Given the description of an element on the screen output the (x, y) to click on. 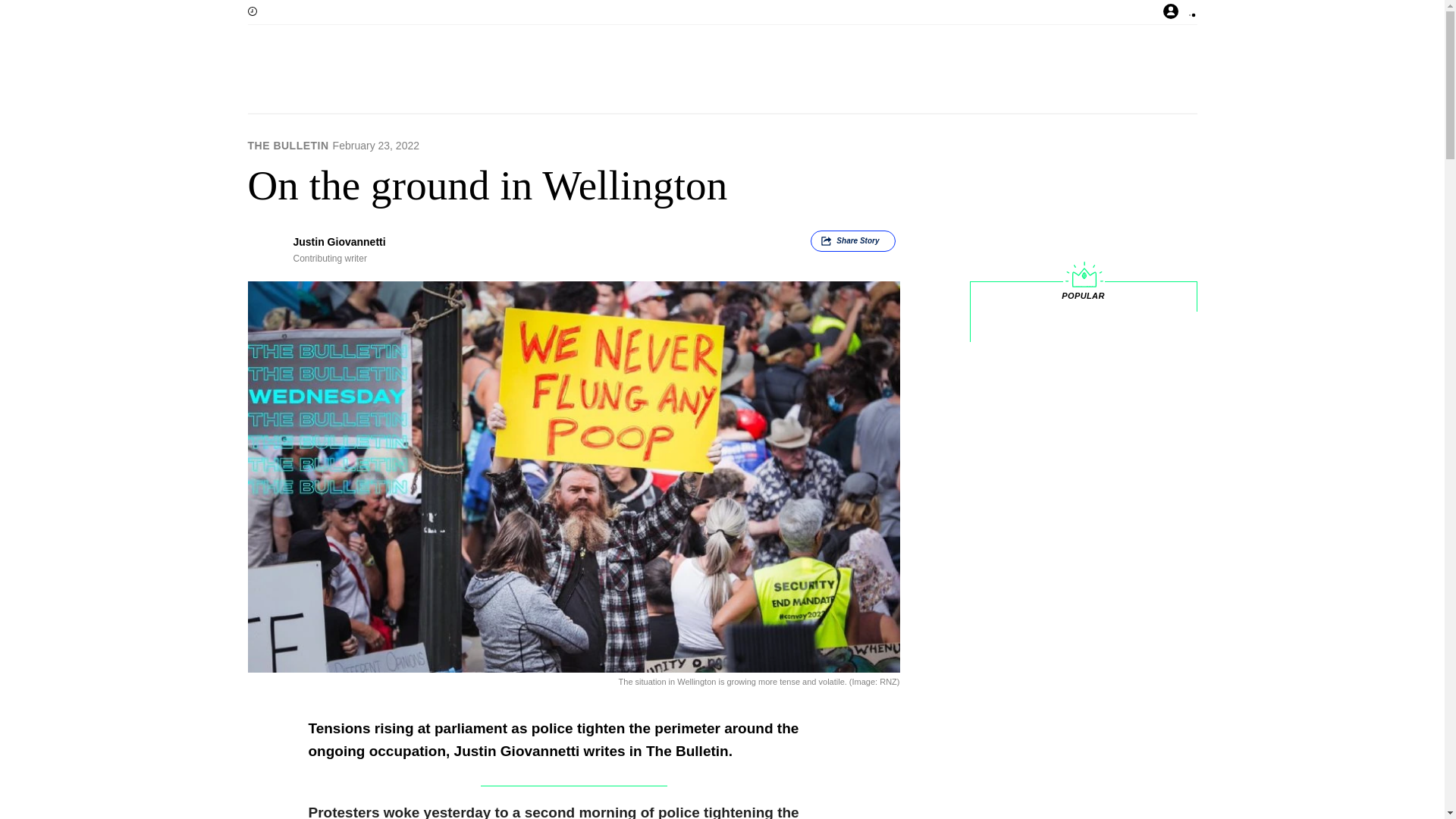
Justin Giovannetti (338, 241)
view all posts by Justin Giovannetti (338, 241)
The Spinoff (673, 72)
THE BULLETIN (288, 145)
